Given the description of an element on the screen output the (x, y) to click on. 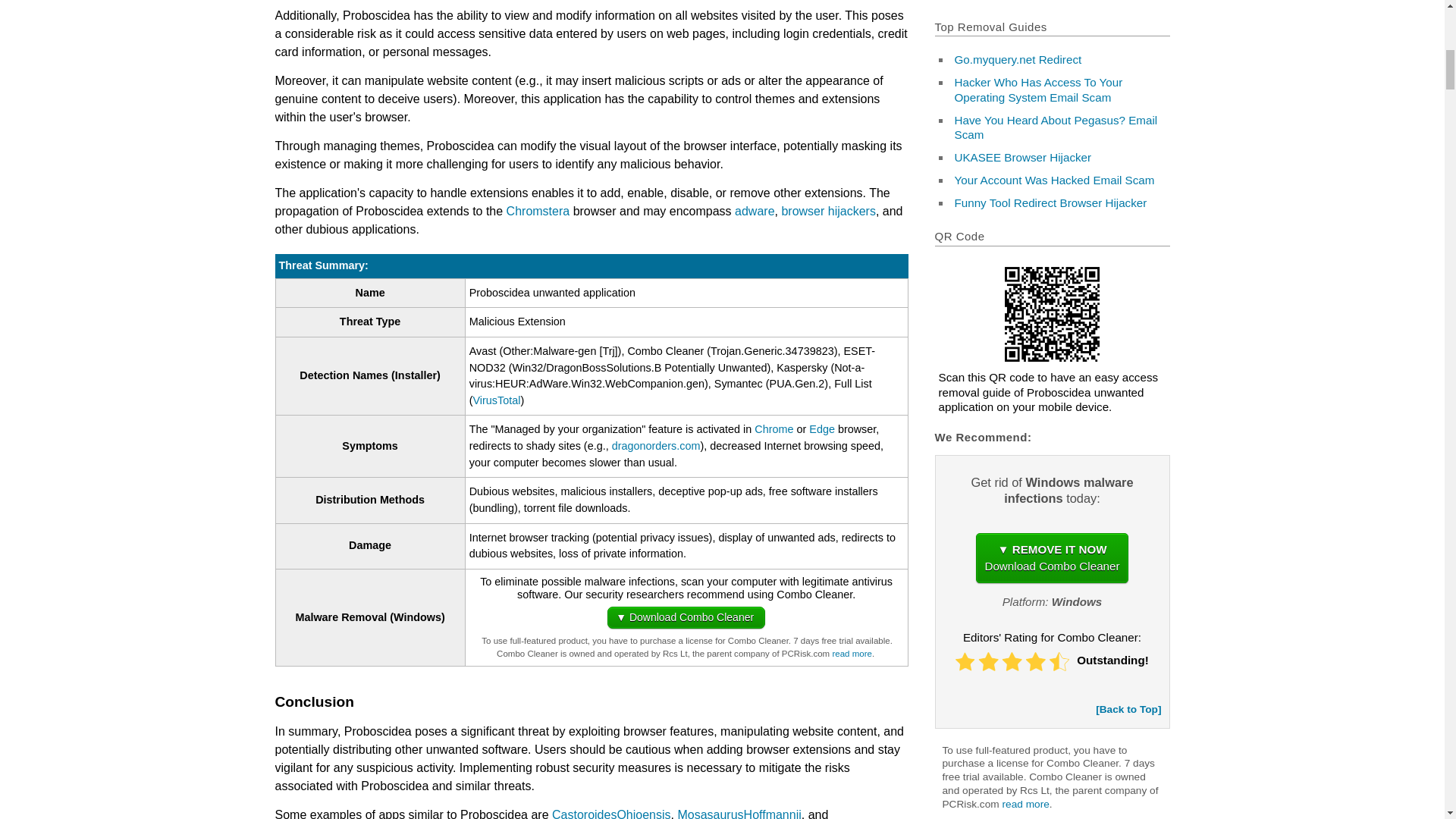
dragonorders.com (655, 445)
Chrome (773, 428)
Read more about us (850, 653)
Chromstera (538, 210)
read more (850, 653)
browser hijackers (827, 210)
Read more about us (1026, 803)
Proboscidea unwanted application (1051, 314)
adware (754, 210)
Edge (821, 428)
VirusTotal (495, 399)
